Given the description of an element on the screen output the (x, y) to click on. 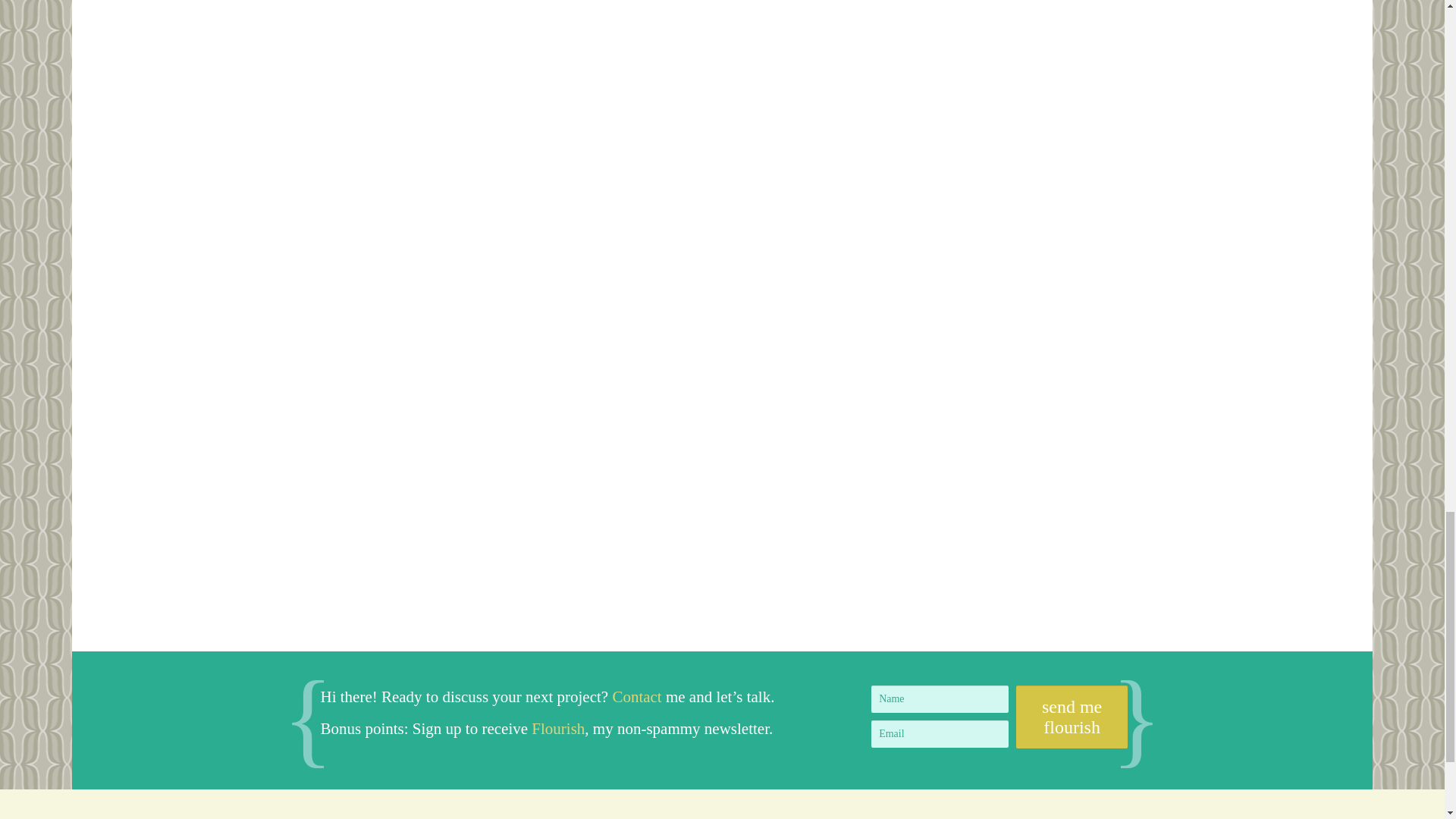
Flourish (558, 728)
send me flourish (1072, 716)
Contact (636, 696)
send me flourish (1072, 716)
